Given the description of an element on the screen output the (x, y) to click on. 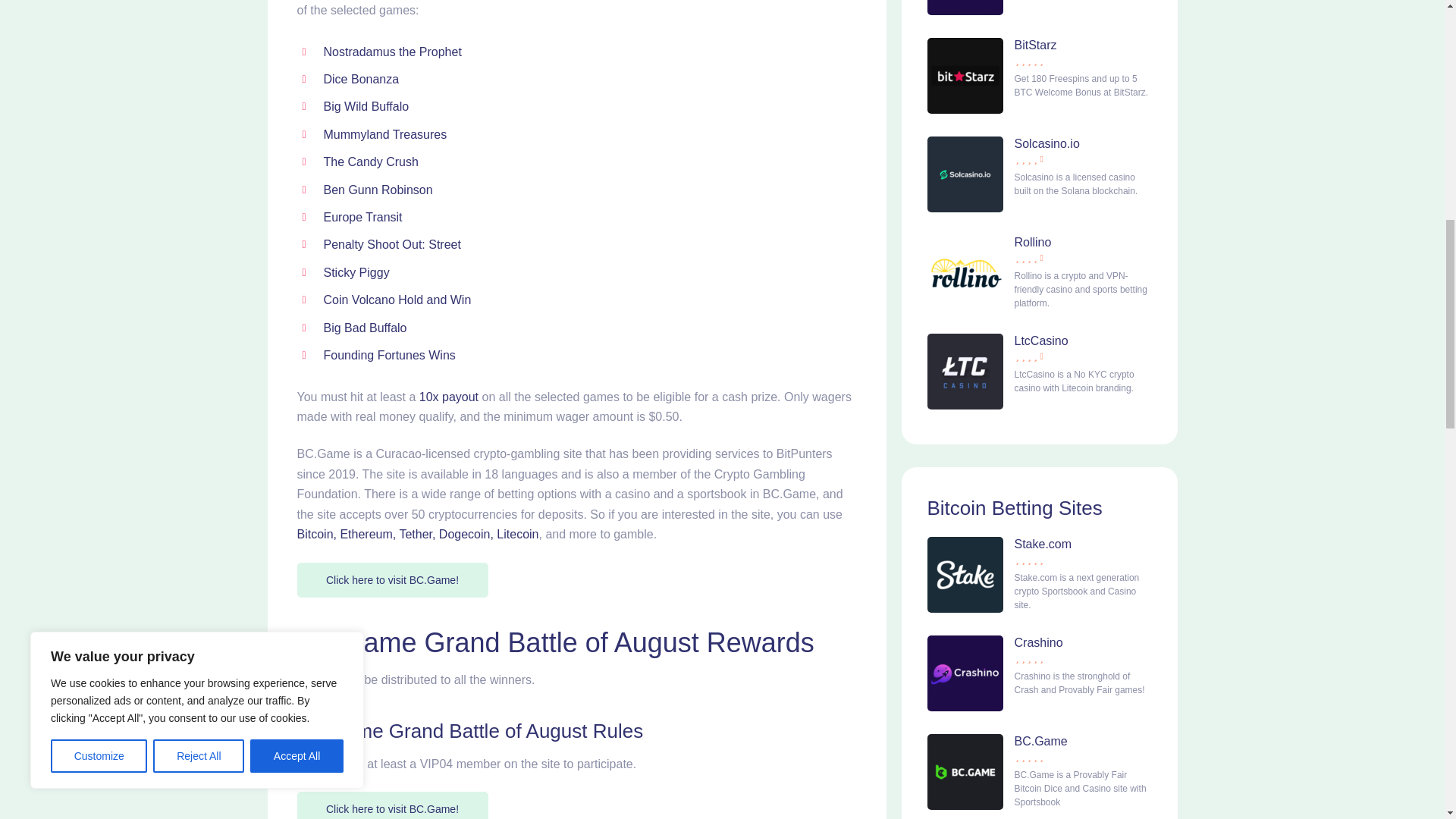
Bc.game (392, 579)
Bc.game (392, 805)
